Given the description of an element on the screen output the (x, y) to click on. 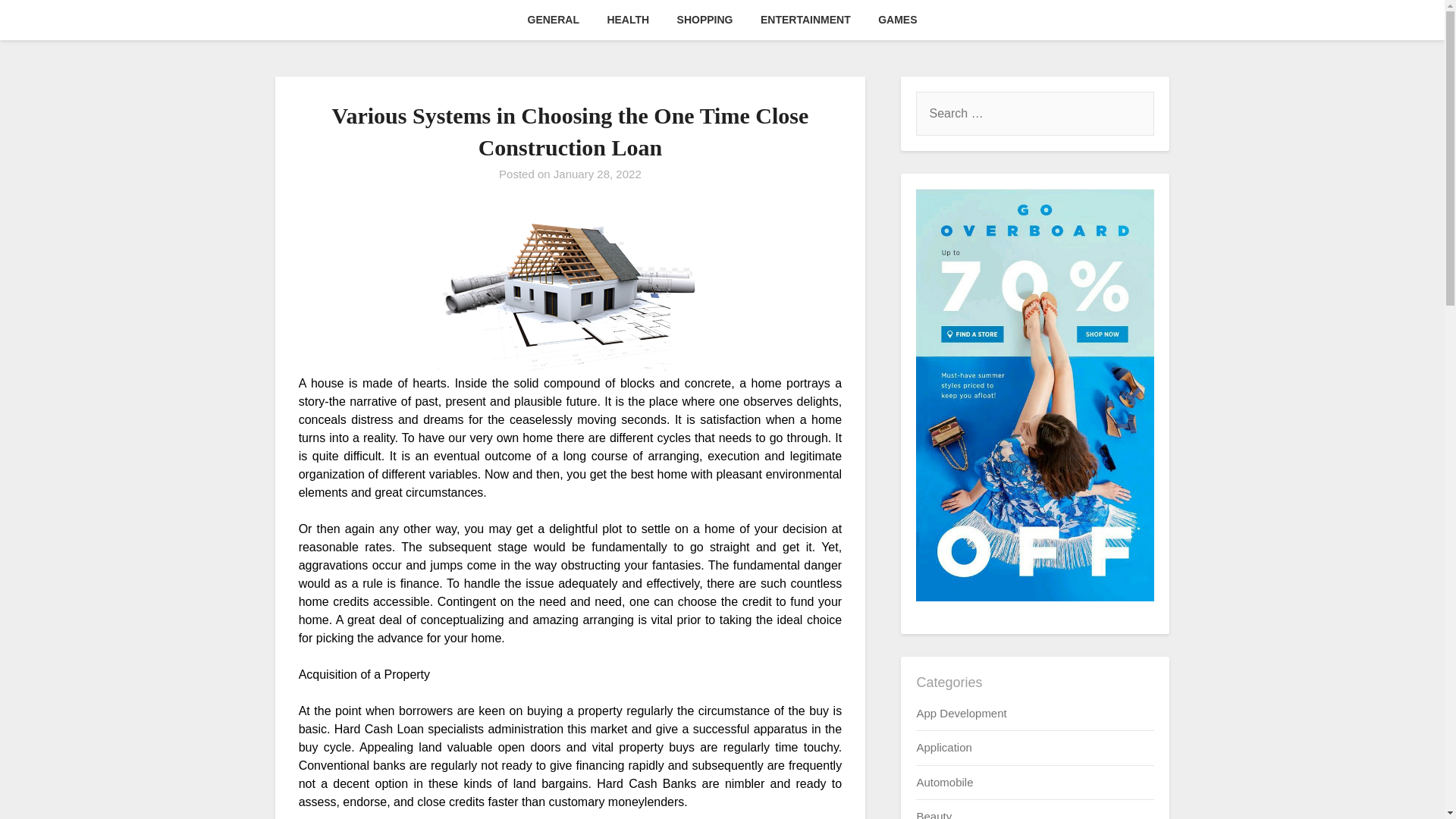
January 28, 2022 (597, 173)
HEALTH (627, 20)
ENTERTAINMENT (805, 20)
Beauty (933, 814)
GAMES (897, 20)
Search (37, 22)
Application (943, 747)
GENERAL (553, 20)
App Development (960, 712)
Automobile (943, 781)
